Given the description of an element on the screen output the (x, y) to click on. 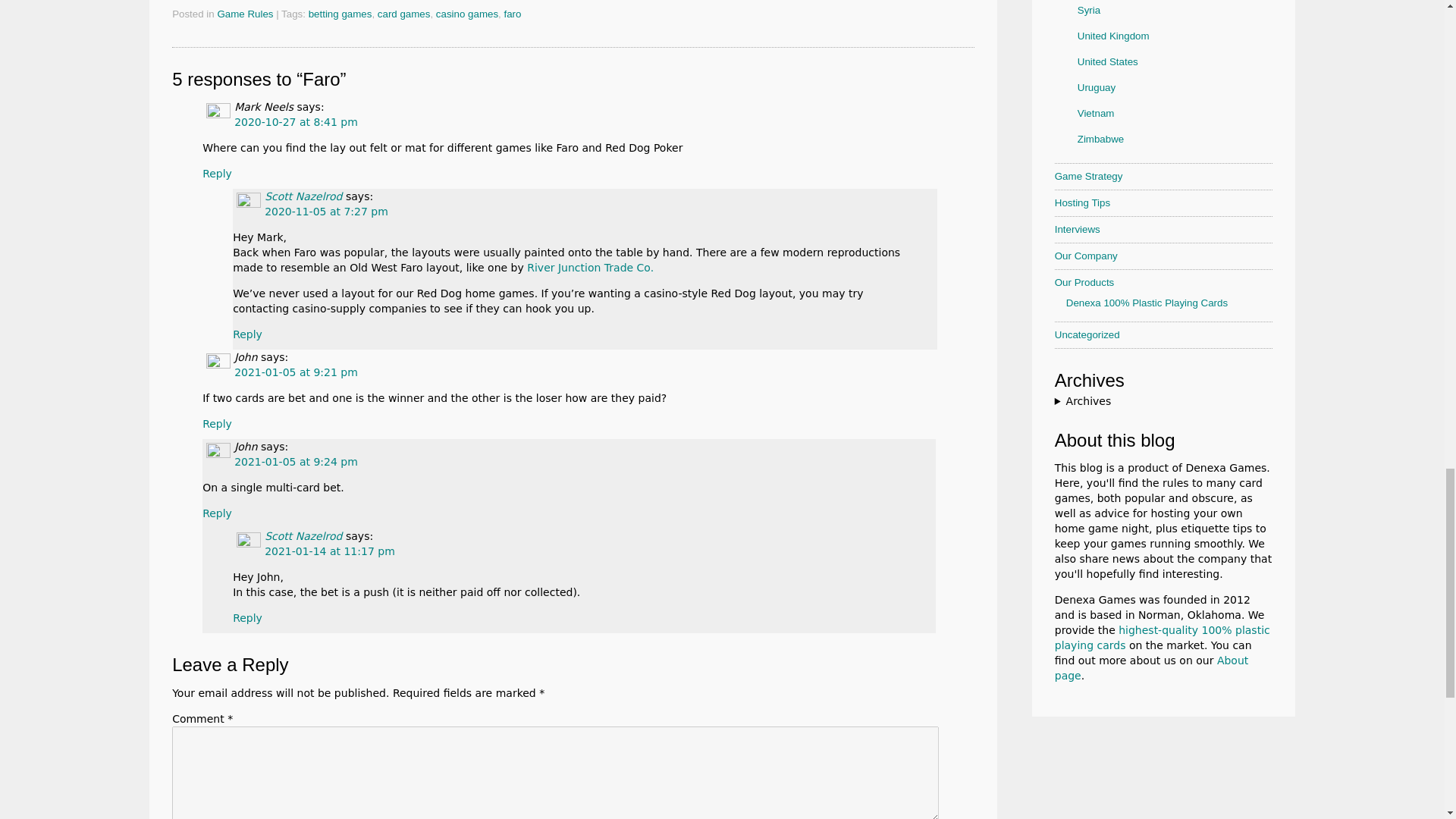
Game Rules (244, 13)
card games (403, 13)
faro (512, 13)
2020-10-27 at 8:41 pm (296, 121)
2021-01-05 at 9:24 pm (296, 461)
River Junction Trade Co. (590, 267)
betting games (340, 13)
Scott Nazelrod (303, 196)
Reply (247, 334)
2021-01-14 at 11:17 pm (329, 551)
Scott Nazelrod (303, 535)
Reply (216, 173)
2021-01-05 at 9:21 pm (296, 372)
Reply (216, 512)
2020-11-05 at 7:27 pm (326, 211)
